Given the description of an element on the screen output the (x, y) to click on. 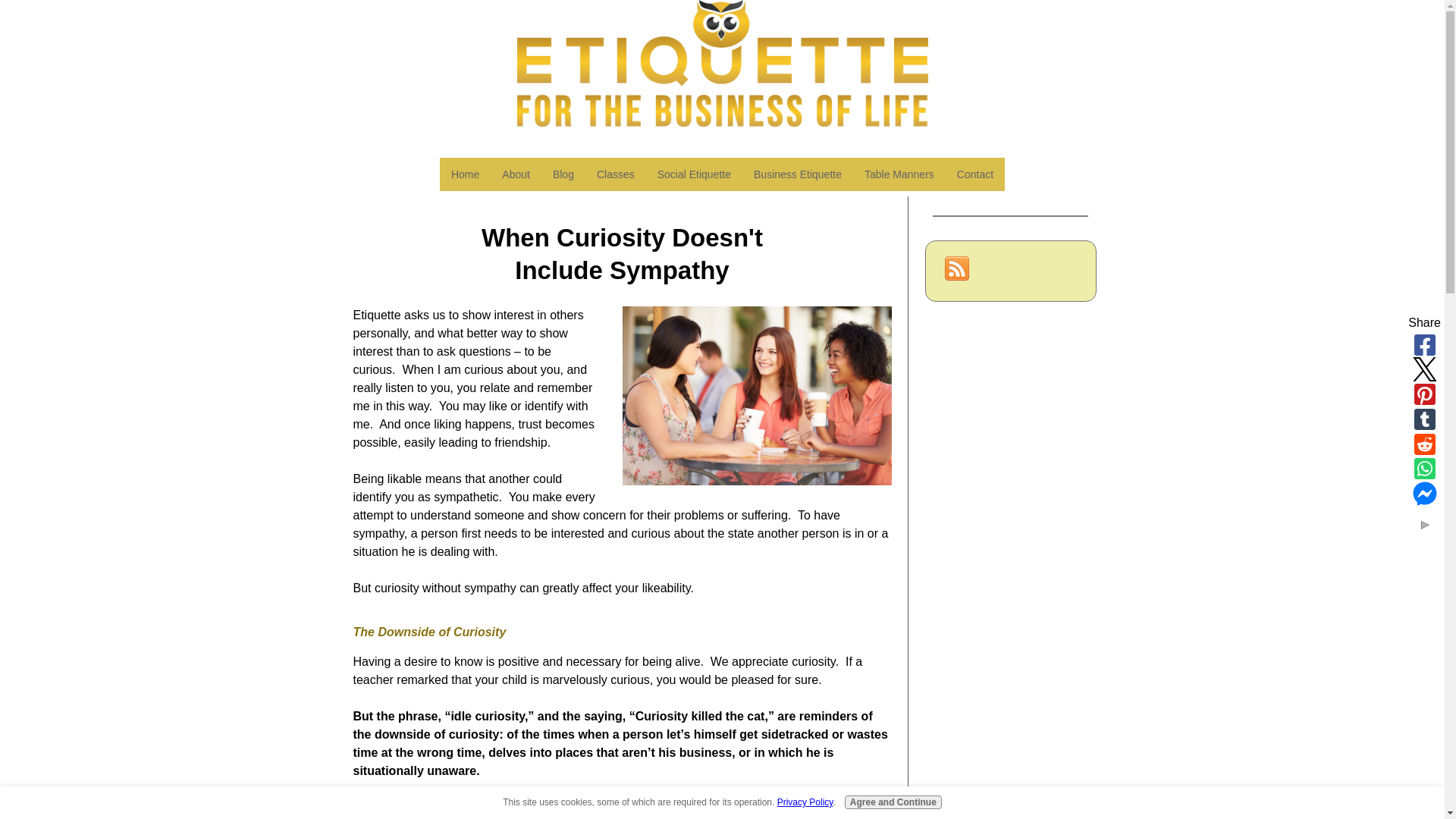
Three Friends in a Cafe (756, 396)
Home (464, 174)
Contact (974, 174)
Classes (615, 174)
About (515, 174)
Blog (563, 174)
